Given the description of an element on the screen output the (x, y) to click on. 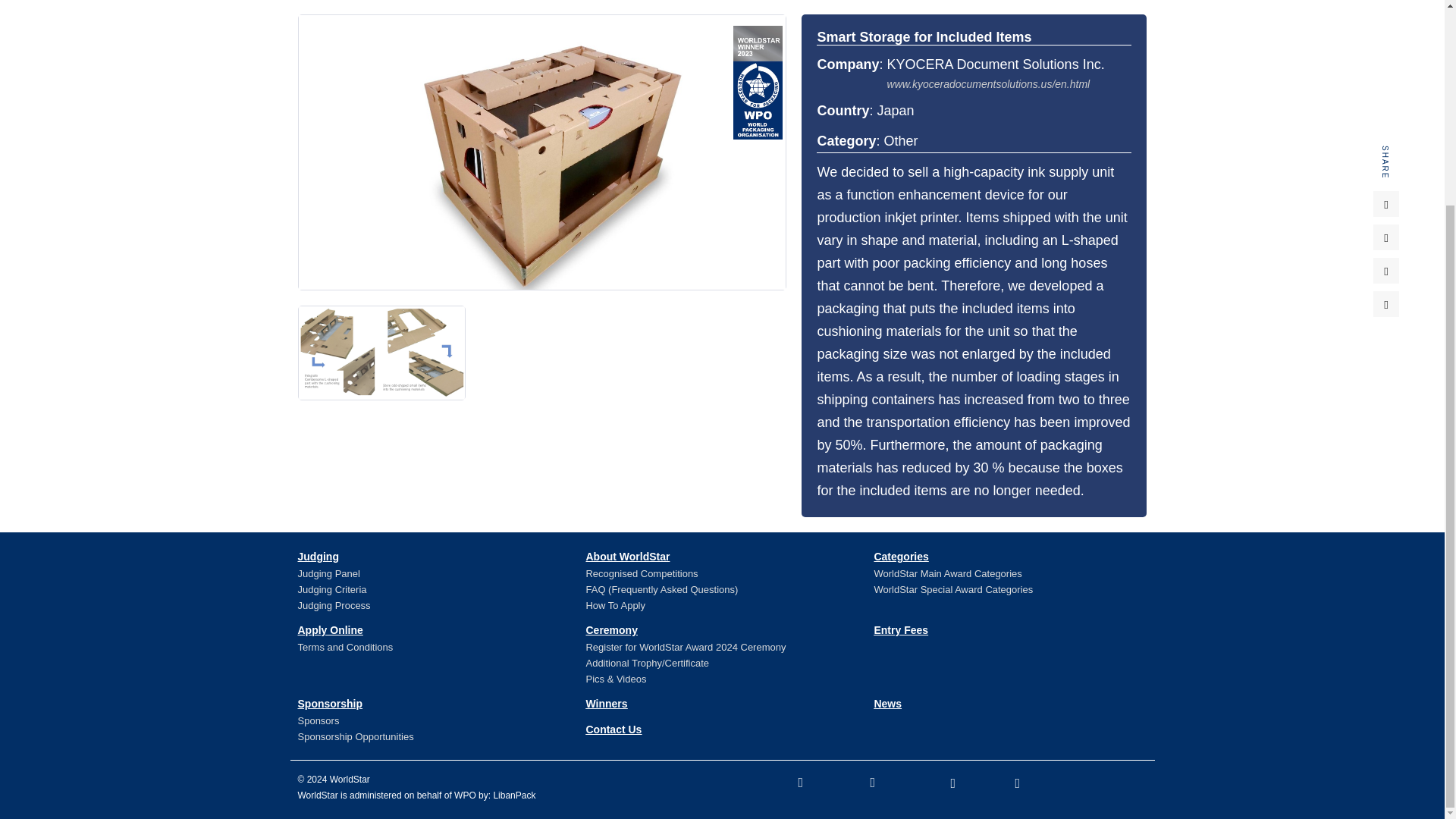
Go To Entry Fees (900, 630)
Click To Enlarge (542, 152)
Click To Enlarge (381, 353)
Go To Winners (606, 703)
